Given the description of an element on the screen output the (x, y) to click on. 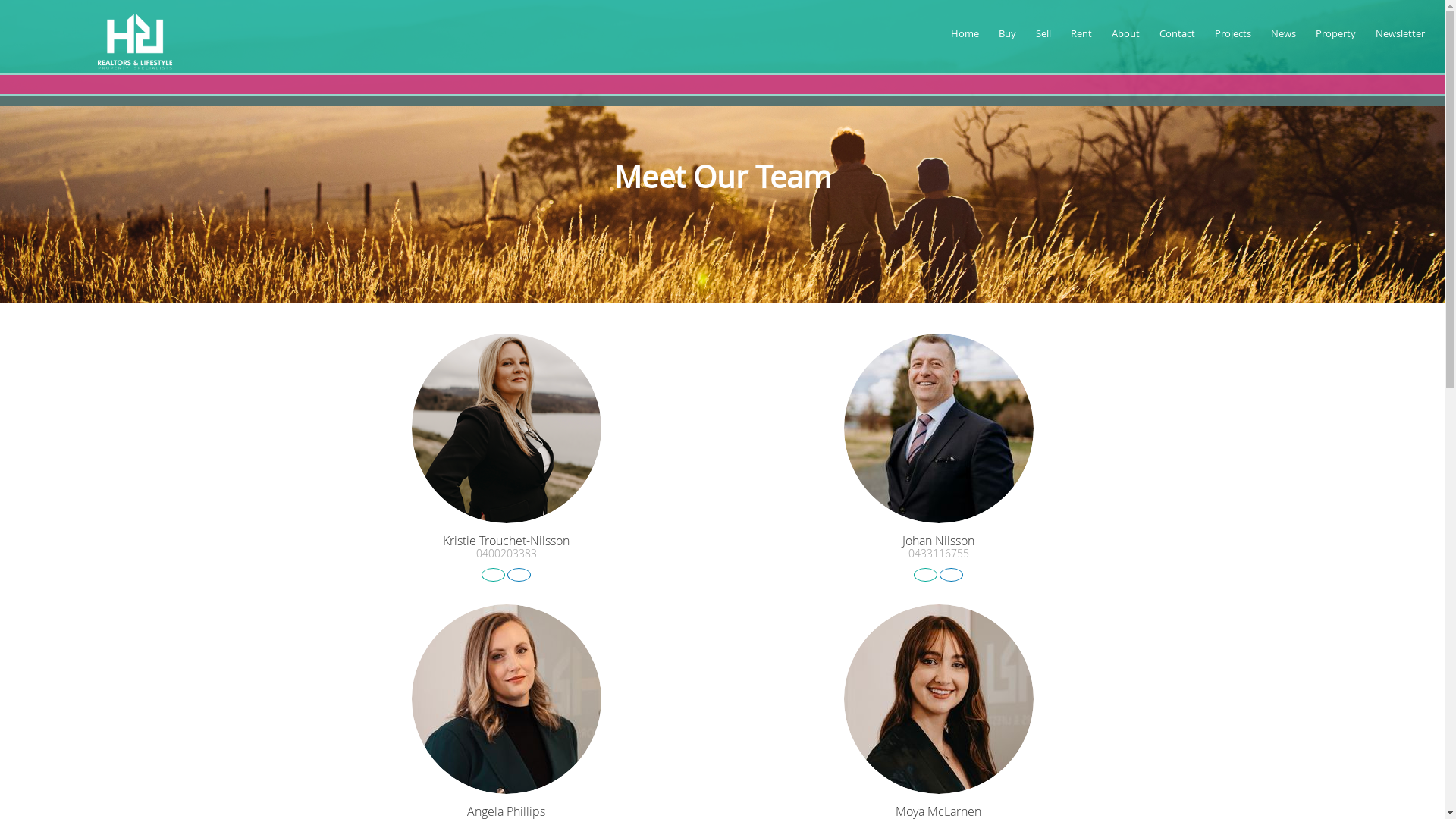
Home   Element type: text (966, 37)
0400203383 Element type: text (506, 553)
Buy   Element type: text (1009, 37)
Newsletter   Element type: text (1402, 37)
Projects   Element type: text (1234, 37)
About   Element type: text (1127, 37)
Property   Element type: text (1337, 37)
News   Element type: text (1285, 37)
0433116755 Element type: text (938, 553)
Sell   Element type: text (1045, 37)
Rent   Element type: text (1083, 37)
Contact   Element type: text (1179, 37)
